Given the description of an element on the screen output the (x, y) to click on. 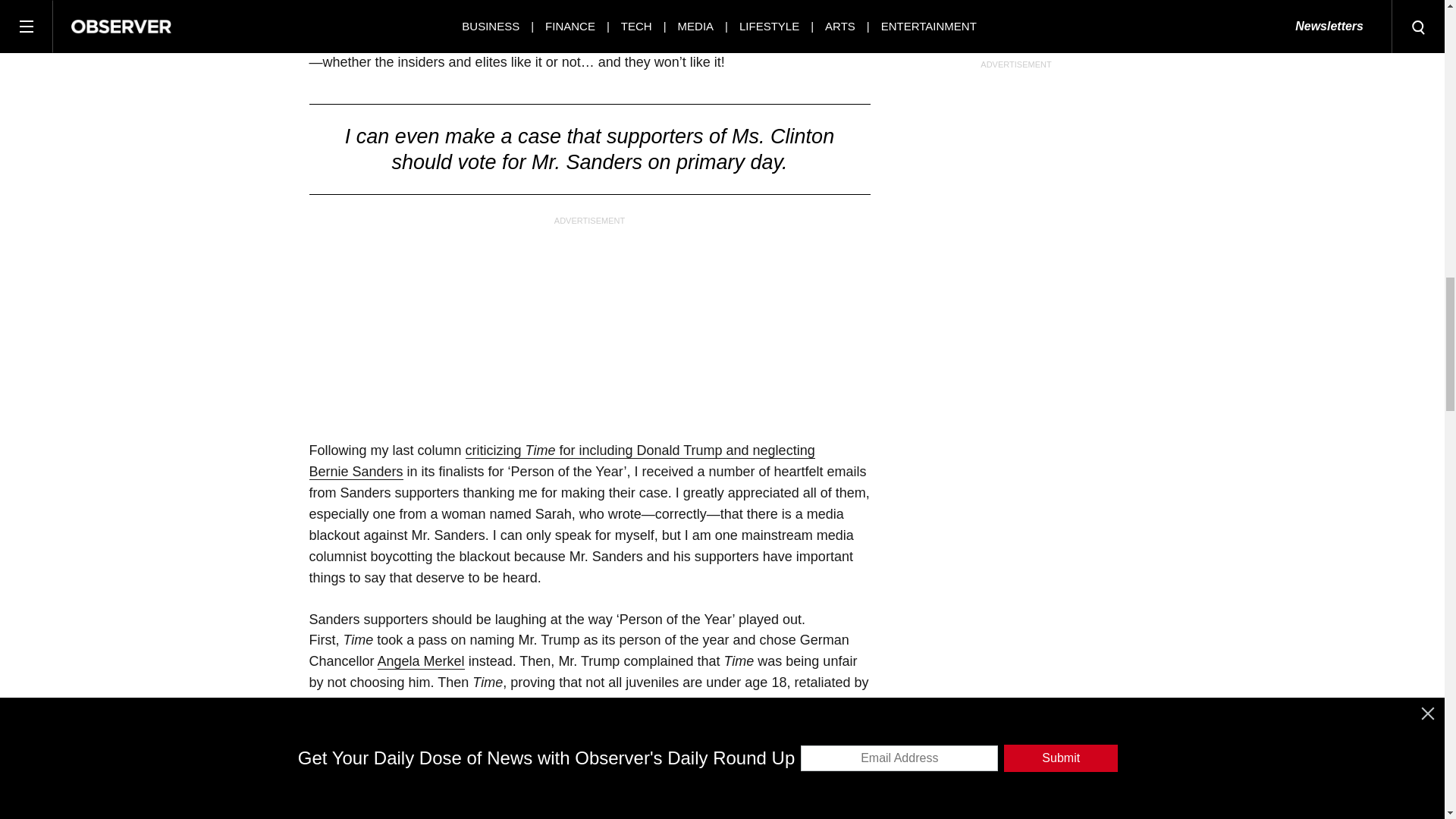
Angela Merkel (420, 661)
